Given the description of an element on the screen output the (x, y) to click on. 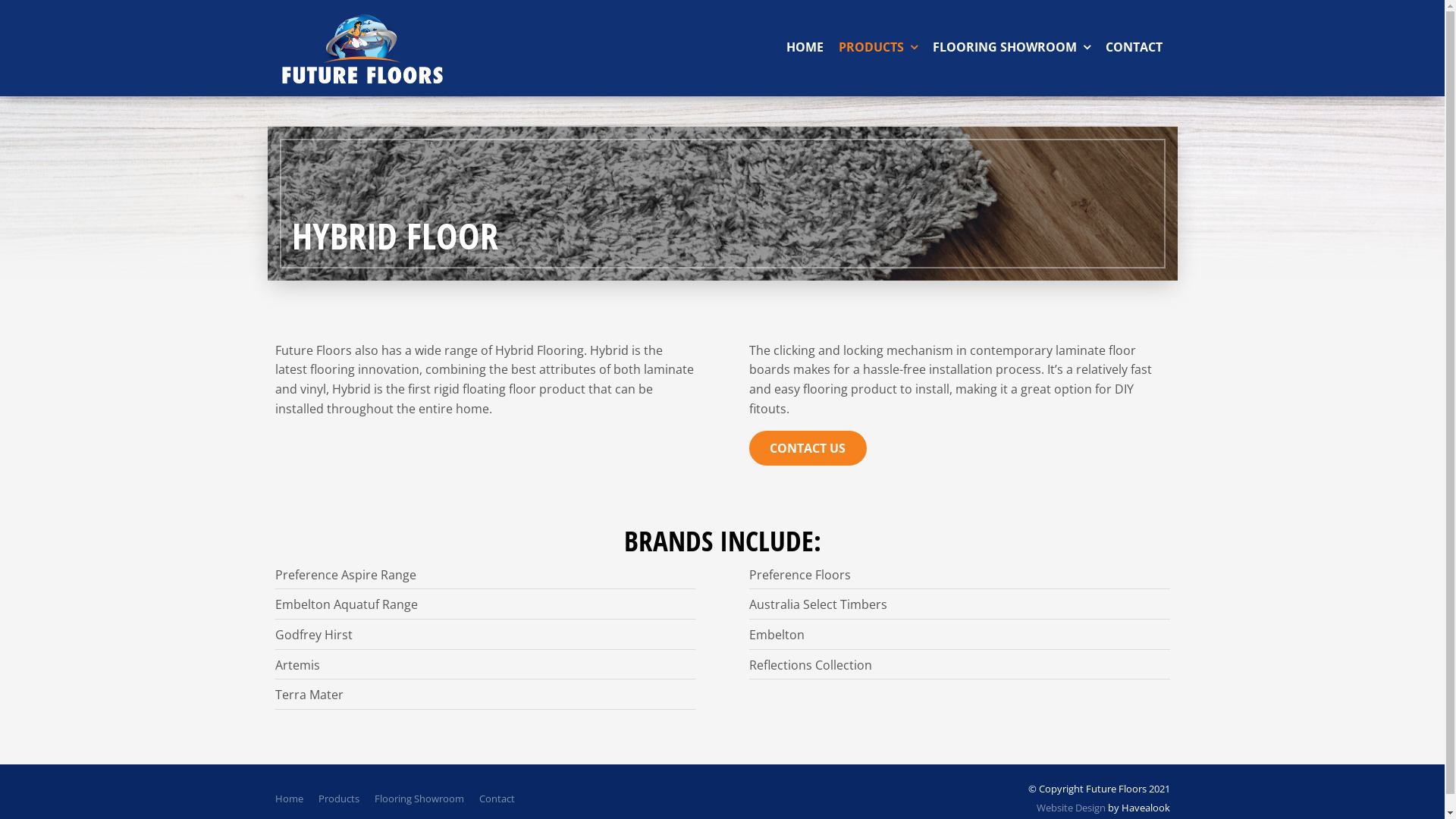
Flooring Showroom Element type: text (419, 798)
PRODUCTS Element type: text (878, 47)
Website Design Element type: text (1069, 807)
Products Element type: text (338, 798)
Home Element type: text (288, 798)
FLOORING SHOWROOM Element type: text (1011, 47)
HOME Element type: text (804, 47)
Contact Element type: text (496, 798)
CONTACT US Element type: text (807, 447)
CONTACT Element type: text (1134, 47)
